Given the description of an element on the screen output the (x, y) to click on. 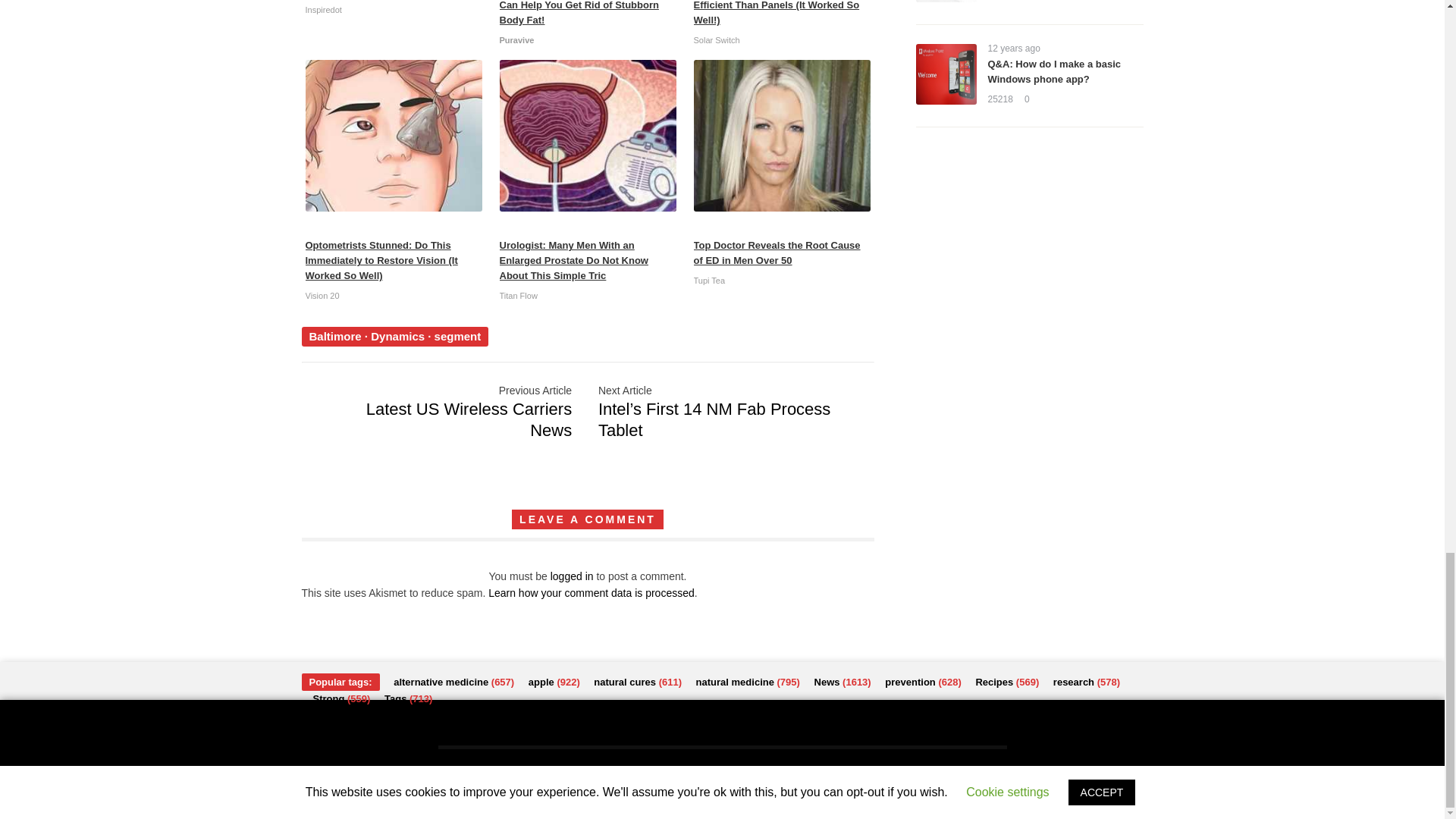
Dynamics (398, 336)
Baltimore (334, 336)
